Given the description of an element on the screen output the (x, y) to click on. 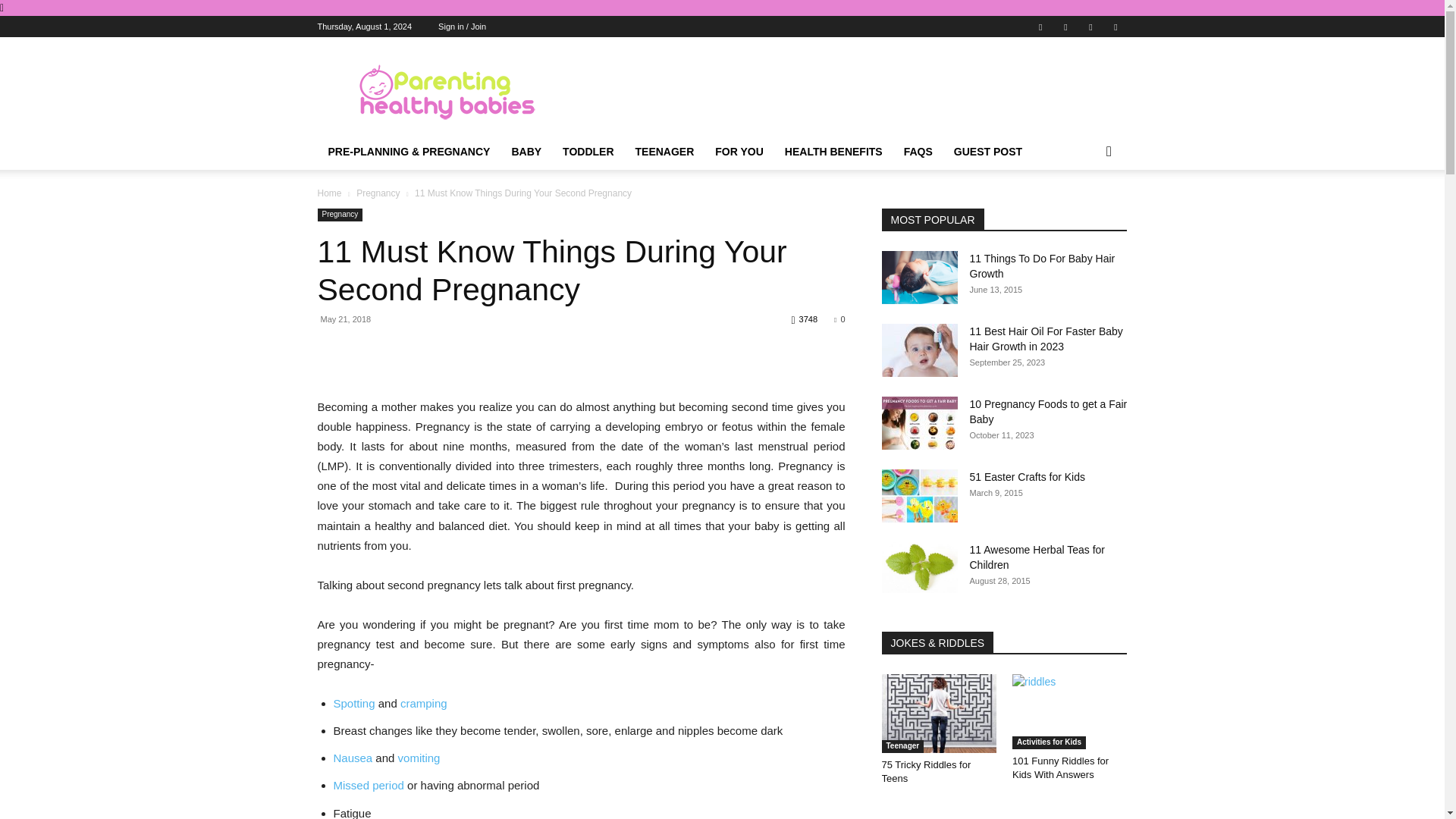
View all posts in Pregnancy (377, 193)
Twitter (1090, 25)
GUEST POST (987, 151)
Youtube (1114, 25)
Pregnancy (339, 214)
Pregnancy (377, 193)
FOR YOU (739, 151)
HEALTH BENEFITS (833, 151)
FAQS (918, 151)
Pinterest (1065, 25)
TEENAGER (664, 151)
Facebook (1040, 25)
Home (328, 193)
TODDLER (587, 151)
BABY (525, 151)
